Given the description of an element on the screen output the (x, y) to click on. 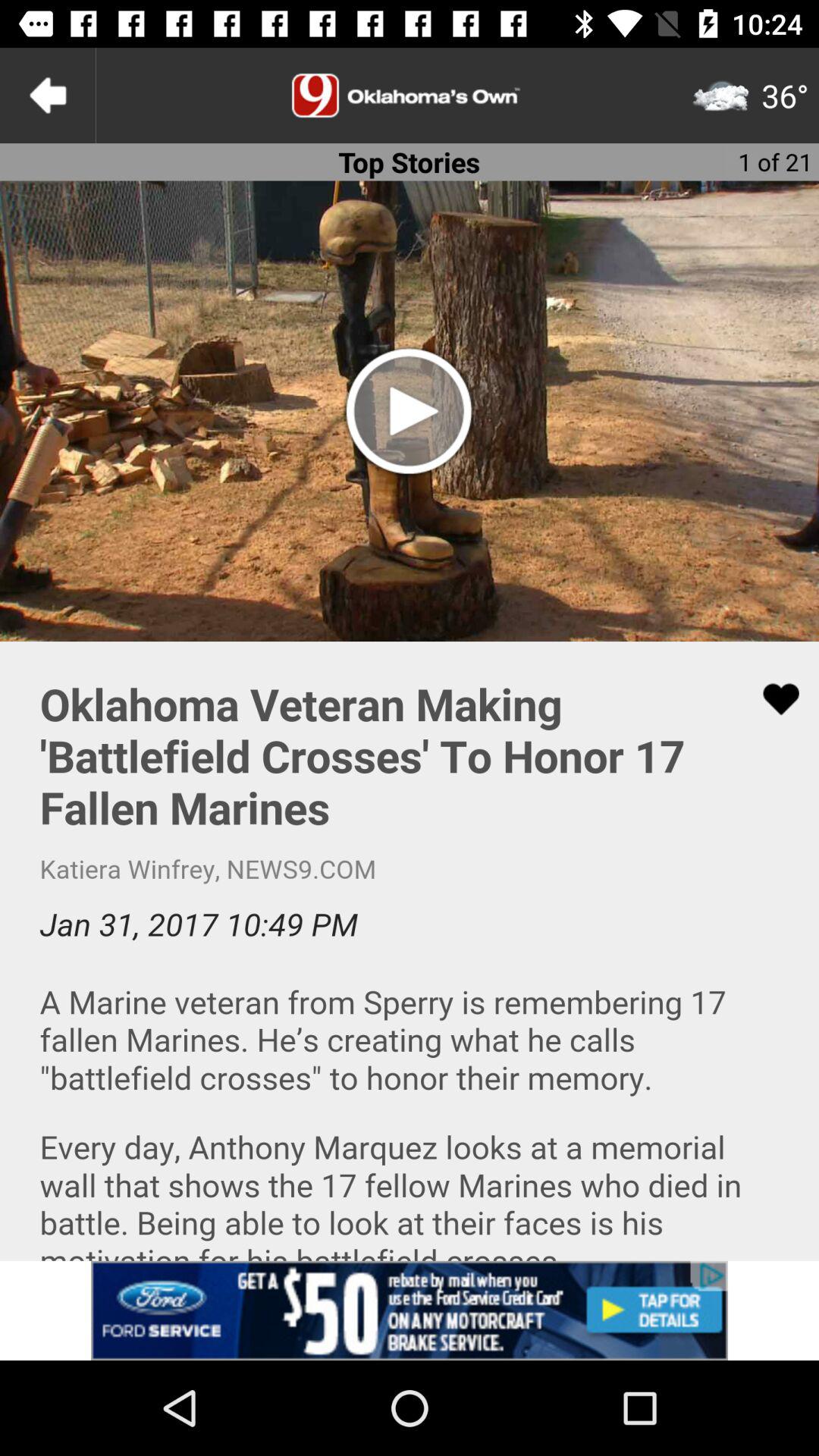
add favorite (771, 699)
